Given the description of an element on the screen output the (x, y) to click on. 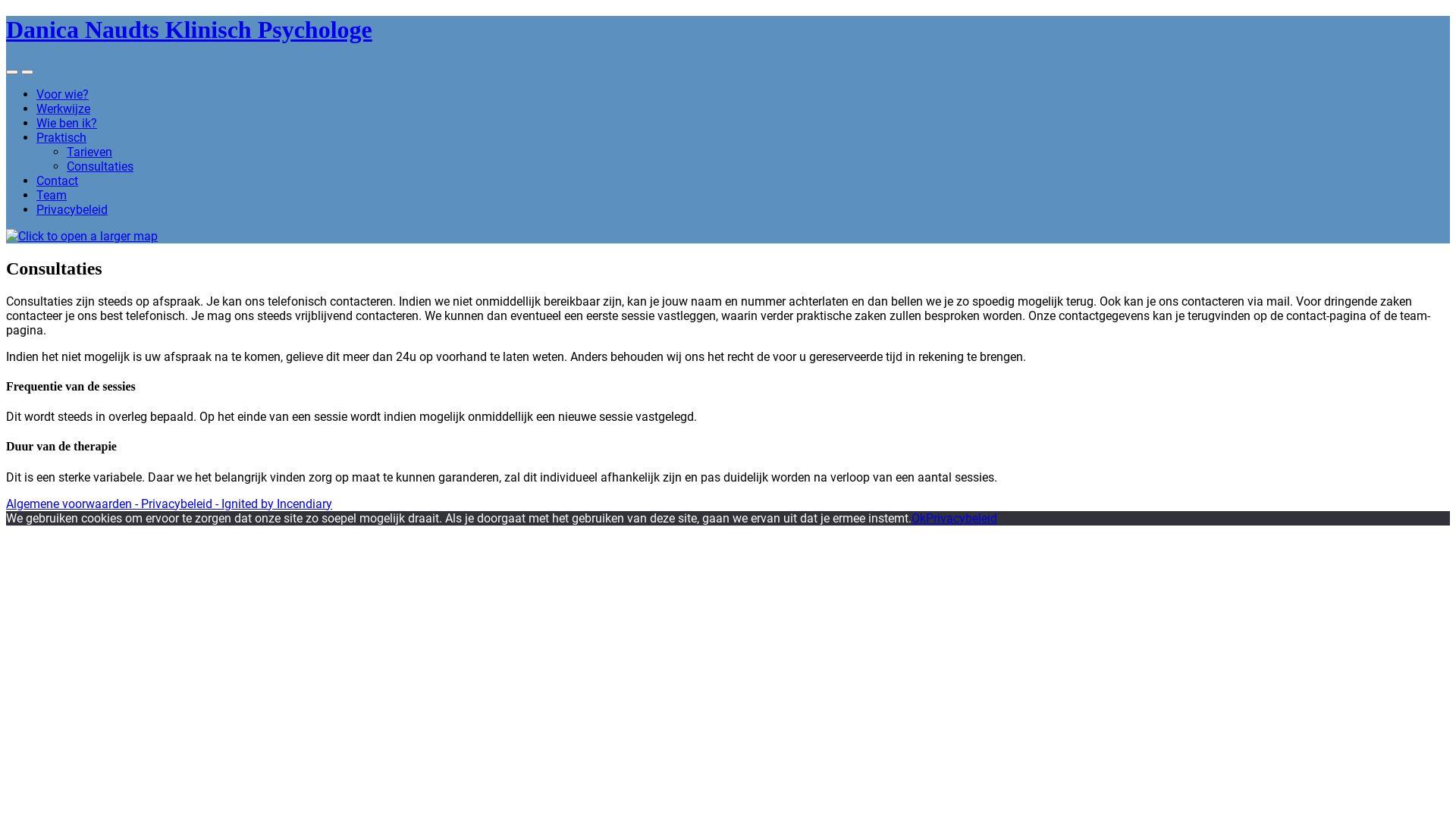
Team Element type: text (51, 195)
Tarieven Element type: text (89, 151)
Contact Element type: text (57, 180)
Privacybeleid Element type: text (961, 518)
Algemene voorwaarden - Element type: text (73, 503)
Werkwijze Element type: text (63, 108)
Privacybeleid - Element type: text (181, 503)
Ignited by Incendiary Element type: text (276, 503)
Wie ben ik? Element type: text (66, 123)
Consultaties Element type: text (99, 166)
Privacybeleid Element type: text (71, 209)
Ok Element type: text (918, 518)
Voor wie? Element type: text (62, 94)
Danica Naudts Klinisch Psychologe Element type: text (189, 29)
Praktisch Element type: text (61, 137)
Click to open a larger map Element type: hover (81, 236)
